Given the description of an element on the screen output the (x, y) to click on. 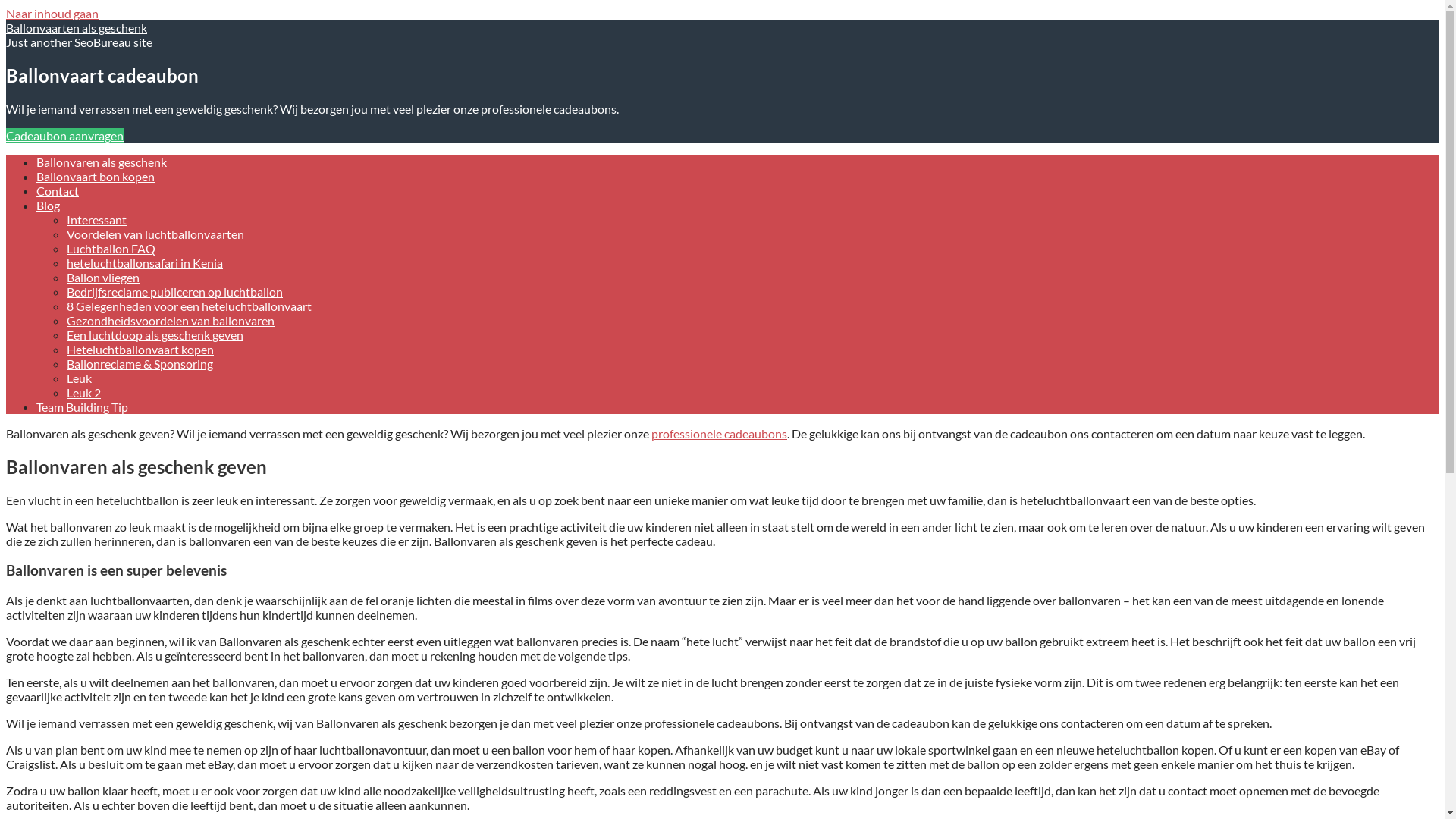
heteluchtballonsafari in Kenia Element type: text (144, 262)
Ballonreclame & Sponsoring Element type: text (139, 363)
professionele cadeaubons Element type: text (719, 433)
Voordelen van luchtballonvaarten Element type: text (155, 233)
Leuk Element type: text (78, 377)
Ballon vliegen Element type: text (102, 276)
Naar inhoud gaan Element type: text (52, 13)
8 Gelegenheden voor een heteluchtballonvaart Element type: text (188, 305)
Ballonvaarten als geschenk Element type: text (76, 27)
Ballonvaren als geschenk Element type: text (101, 161)
Team Building Tip Element type: text (82, 406)
Cadeaubon aanvragen Element type: text (64, 135)
Blog Element type: text (47, 204)
Bedrijfsreclame publiceren op luchtballon Element type: text (174, 291)
Contact Element type: text (57, 190)
Heteluchtballonvaart kopen Element type: text (139, 349)
Gezondheidsvoordelen van ballonvaren Element type: text (170, 320)
Interessant Element type: text (96, 219)
Leuk 2 Element type: text (83, 392)
Een luchtdoop als geschenk geven Element type: text (154, 334)
Luchtballon FAQ Element type: text (110, 248)
Ballonvaart bon kopen Element type: text (95, 176)
